Given the description of an element on the screen output the (x, y) to click on. 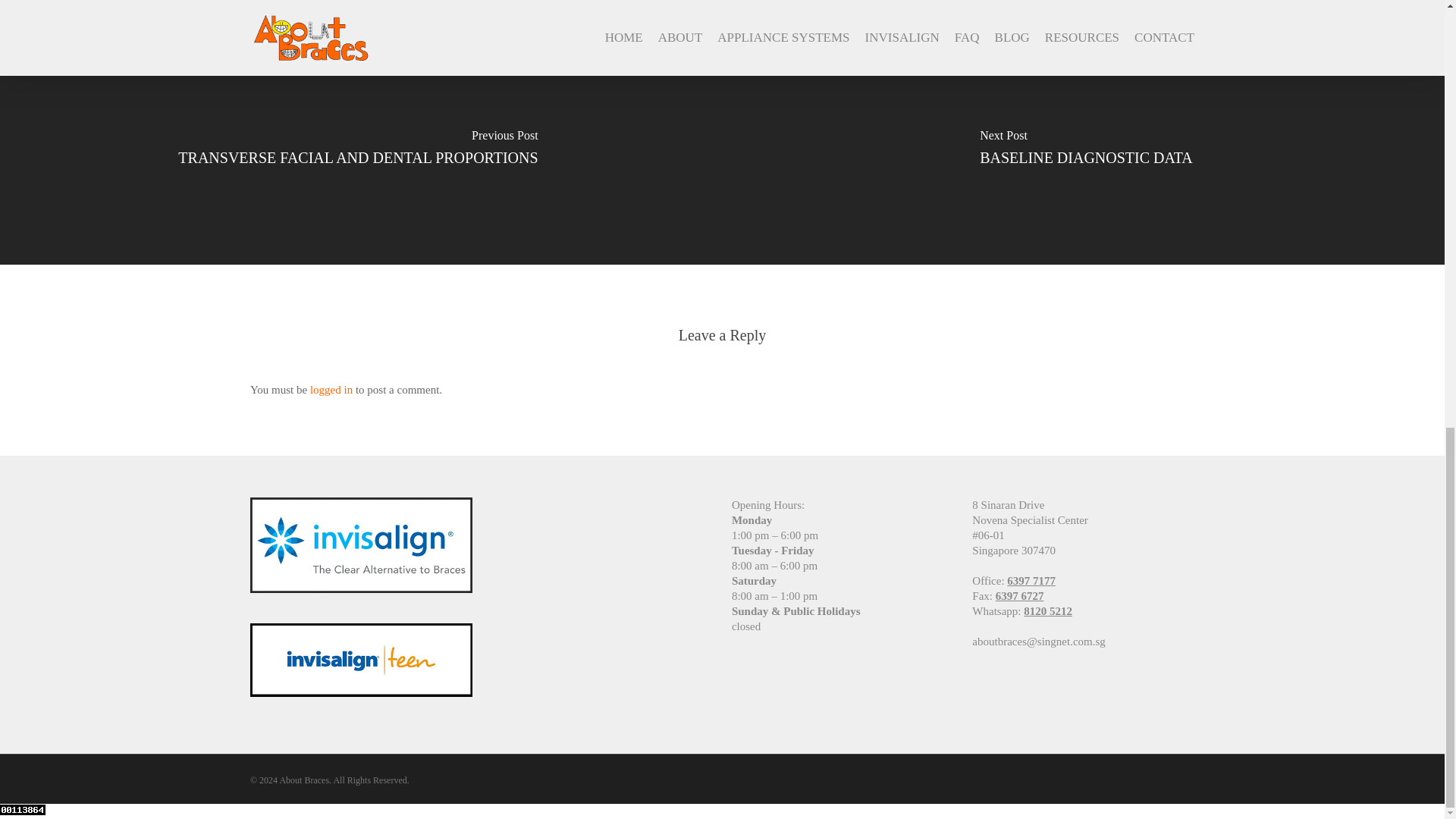
6397 7177 (1031, 580)
logged in (331, 389)
6397 6727 (1019, 595)
8120 5212 (1047, 611)
